Given the description of an element on the screen output the (x, y) to click on. 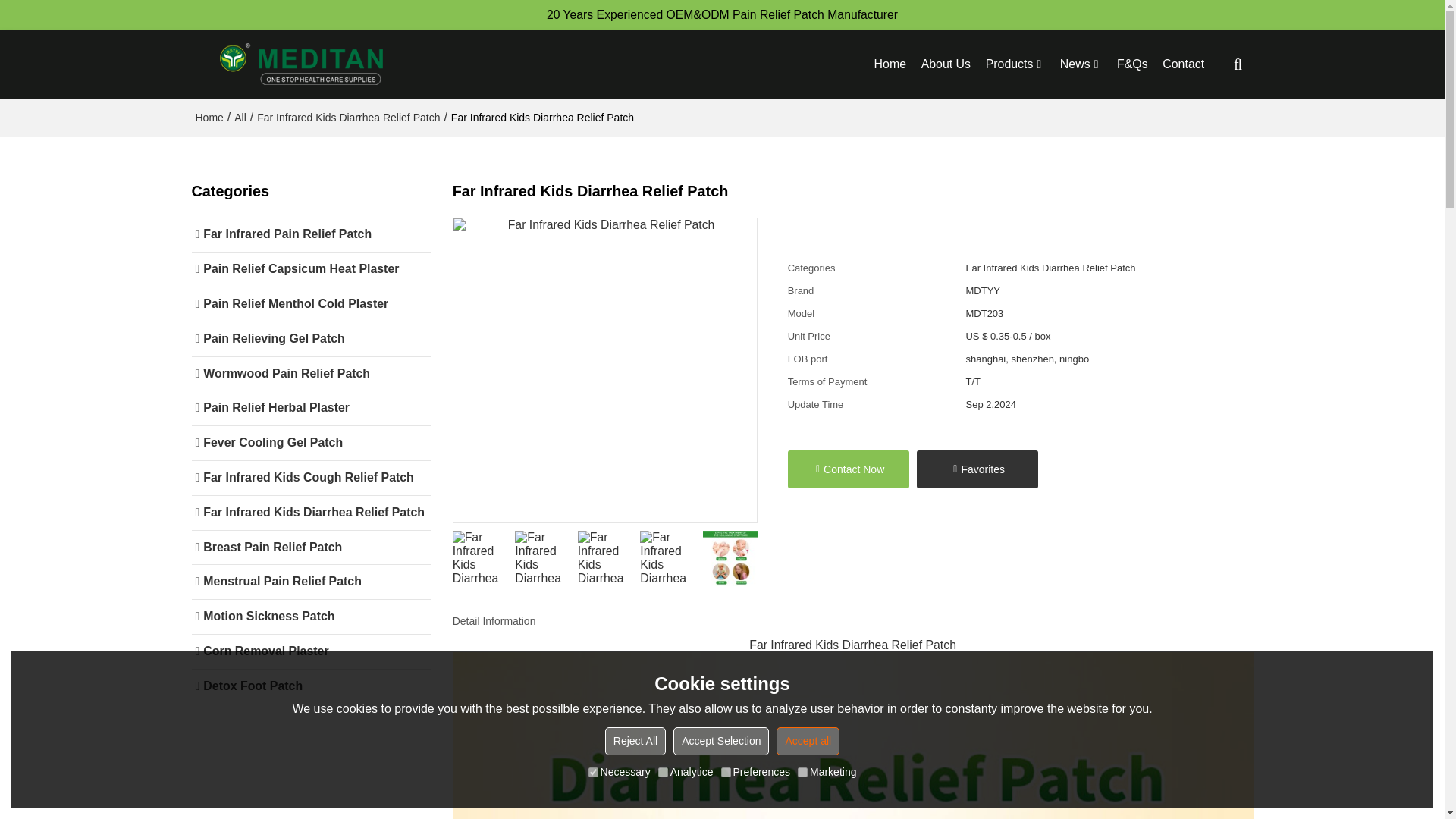
About Us (946, 64)
Far Infrared Kids Diarrhea Relief Patch (309, 513)
on (802, 772)
on (593, 772)
Corn Removal Plaster (309, 651)
About Us (946, 64)
Pain Relief Herbal Plaster (309, 408)
Home (209, 117)
Fever Cooling Gel Patch (309, 443)
Far Infrared Kids Diarrhea Relief Patch (348, 117)
